Given the description of an element on the screen output the (x, y) to click on. 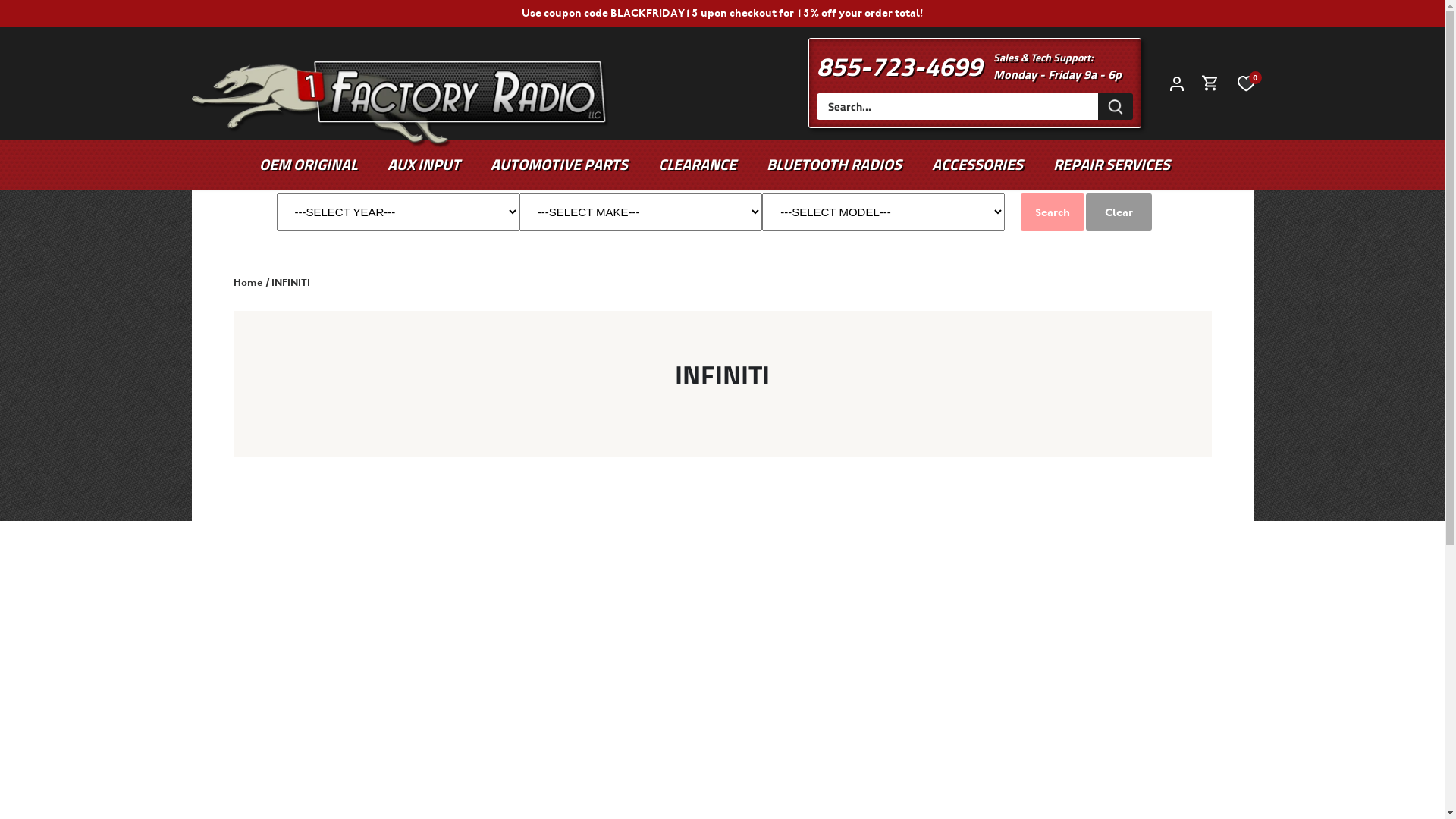
AUTOMOTIVE PARTS Element type: text (559, 164)
AUX INPUT Element type: text (423, 164)
Clear Element type: text (1118, 211)
BLUETOOTH RADIOS Element type: text (833, 164)
Search Element type: text (1052, 211)
INFINITI Element type: text (290, 282)
Go to cart Element type: hover (1210, 82)
Home Element type: text (248, 282)
OEM ORIGINAL Element type: text (315, 164)
CLEARANCE Element type: text (697, 164)
855-723-4699 Element type: text (898, 65)
REPAIR SERVICES Element type: text (1111, 164)
ACCESSORIES Element type: text (977, 164)
0 Element type: text (1244, 83)
